Given the description of an element on the screen output the (x, y) to click on. 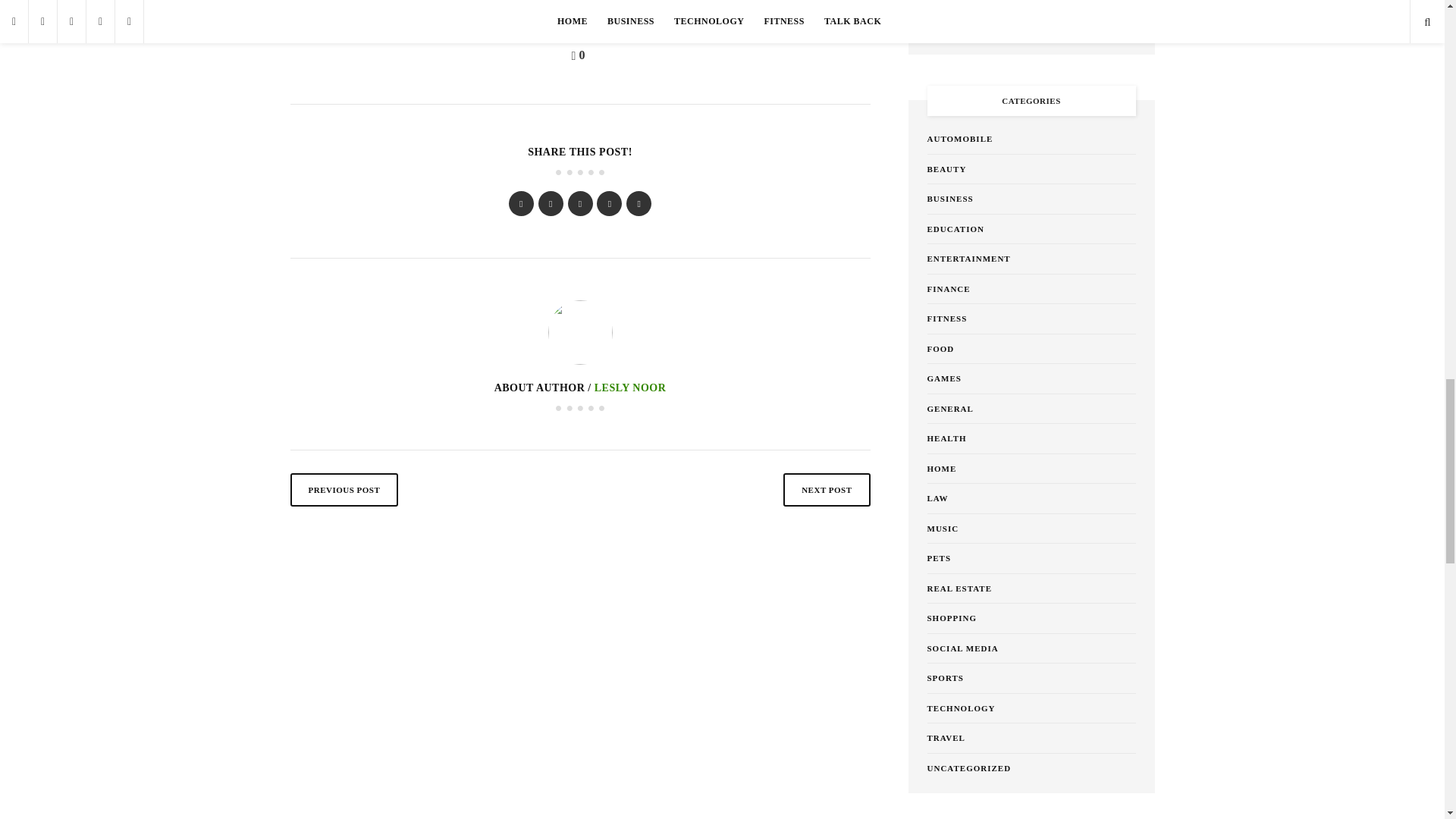
Like (580, 55)
 0 (580, 55)
LESLY NOOR (630, 387)
PREVIOUS POST (343, 489)
NEXT POST (826, 489)
Posts by Lesly Noor (630, 387)
